Given the description of an element on the screen output the (x, y) to click on. 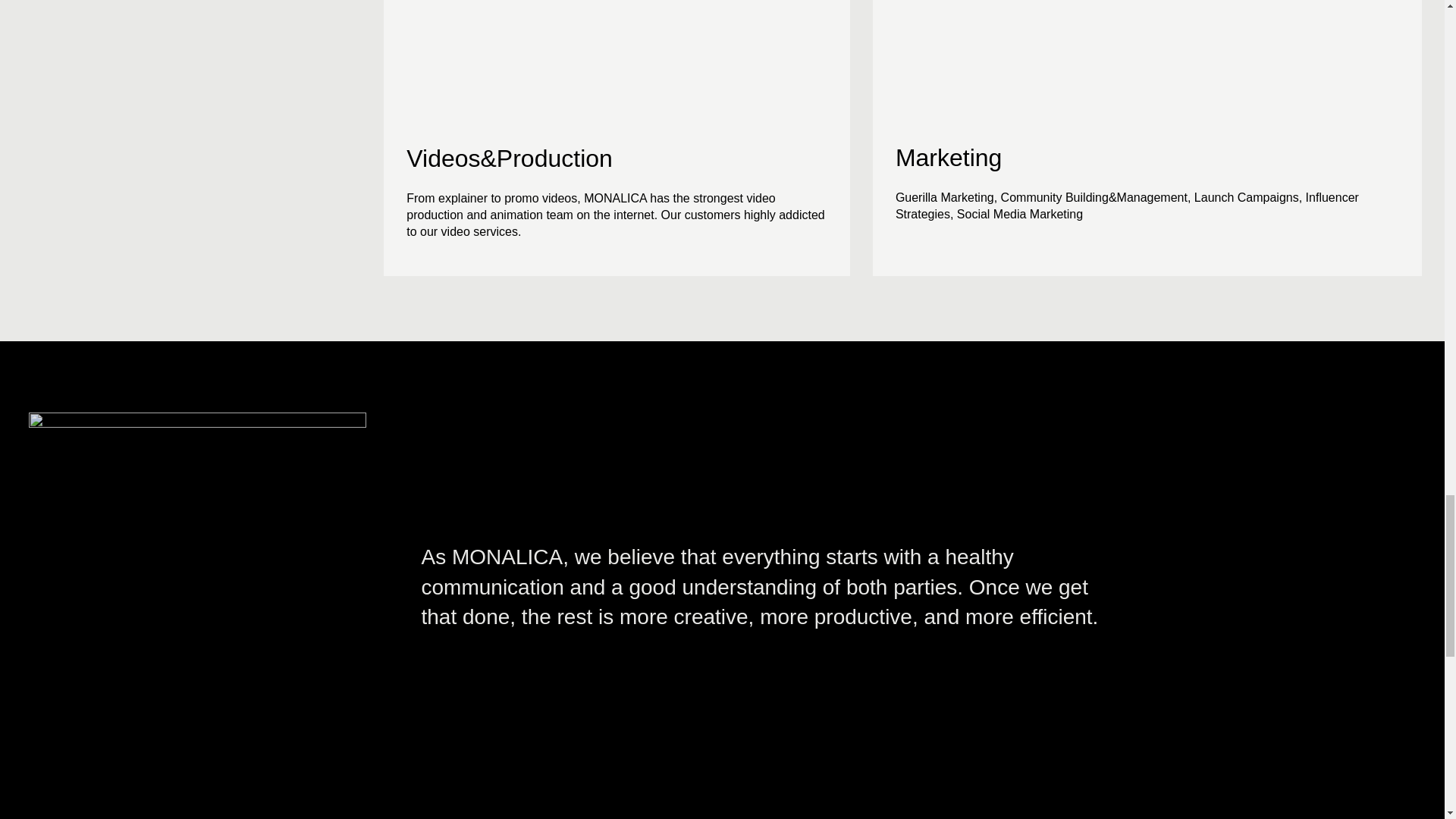
Marketing (949, 157)
